Given the description of an element on the screen output the (x, y) to click on. 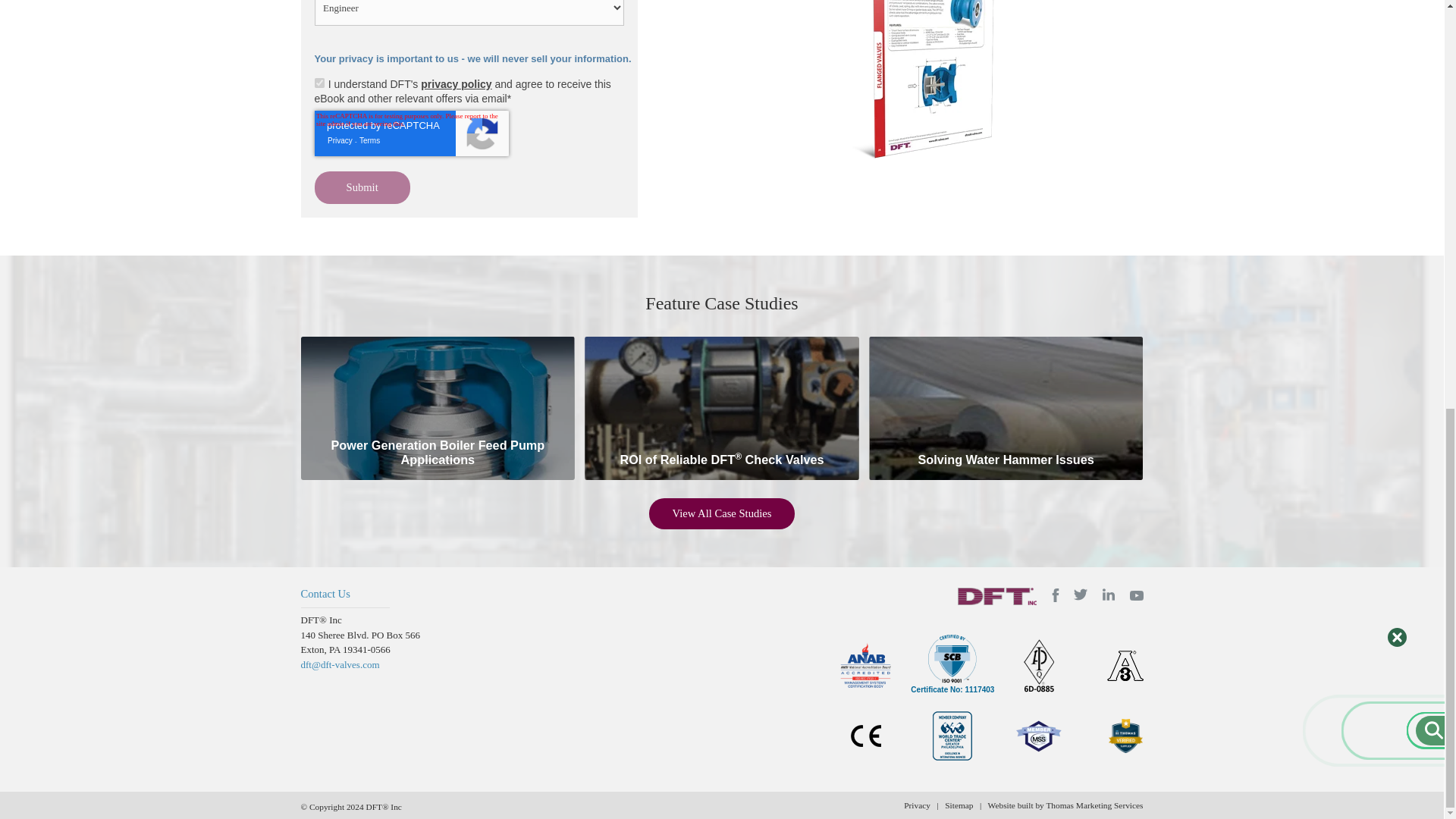
true (318, 82)
WTC (952, 735)
YouTube (1135, 595)
DFT Inc (997, 596)
Thomas Supplier (1125, 735)
Facebook (1055, 594)
CE (865, 735)
ISO-9001 (952, 658)
API (1038, 665)
Submit (361, 187)
privacy policy (456, 83)
LinkedIn (1108, 594)
ANAB (865, 665)
Solving Water Hammer Issues (1005, 407)
Submit (361, 187)
